Given the description of an element on the screen output the (x, y) to click on. 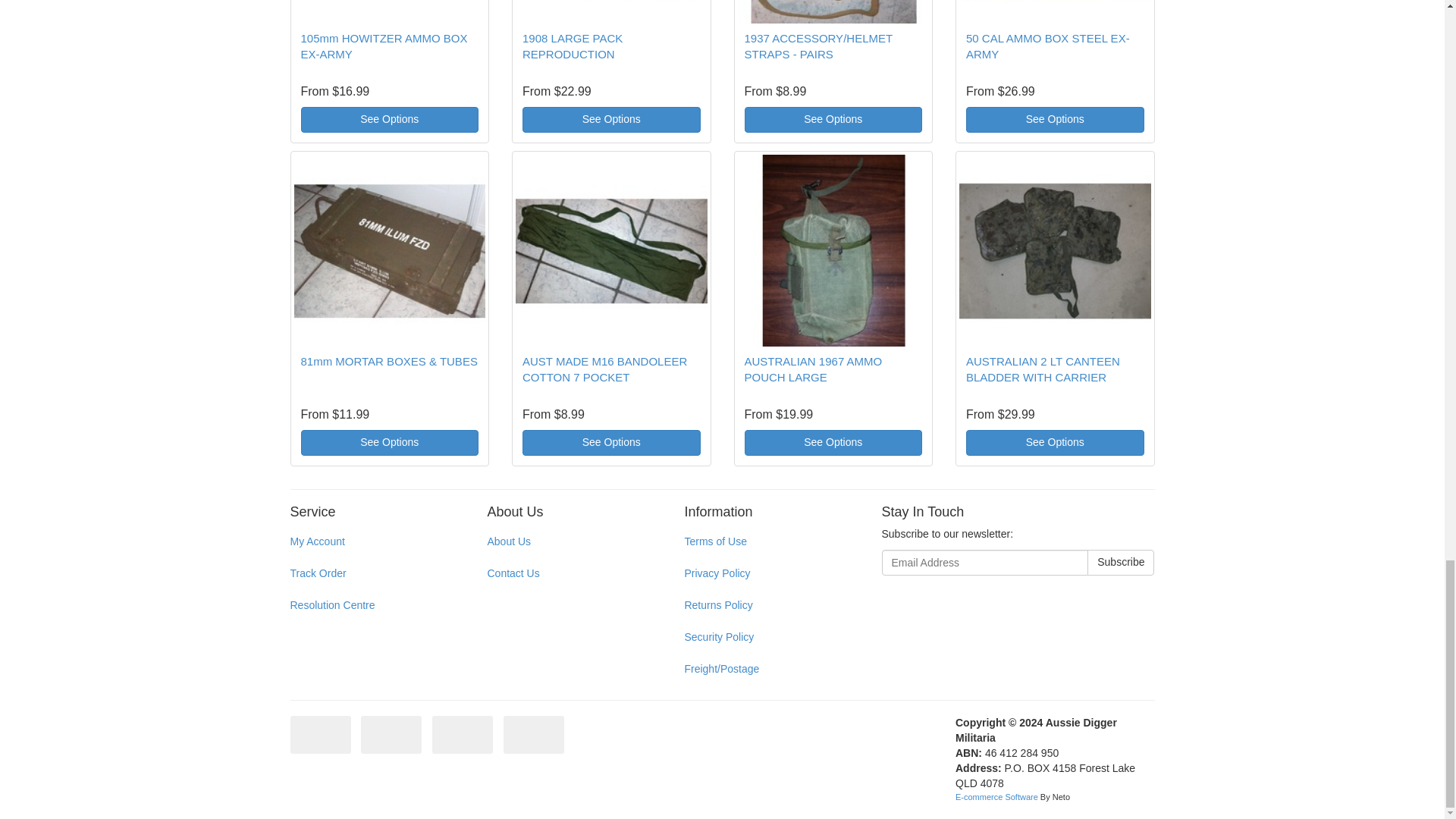
Buying Options (611, 119)
105mm HOWITZER AMMO BOX EX-ARMY (383, 45)
1908 LARGE PACK REPRODUCTION (572, 45)
Subscribe (1120, 562)
Buying Options (389, 119)
